Given the description of an element on the screen output the (x, y) to click on. 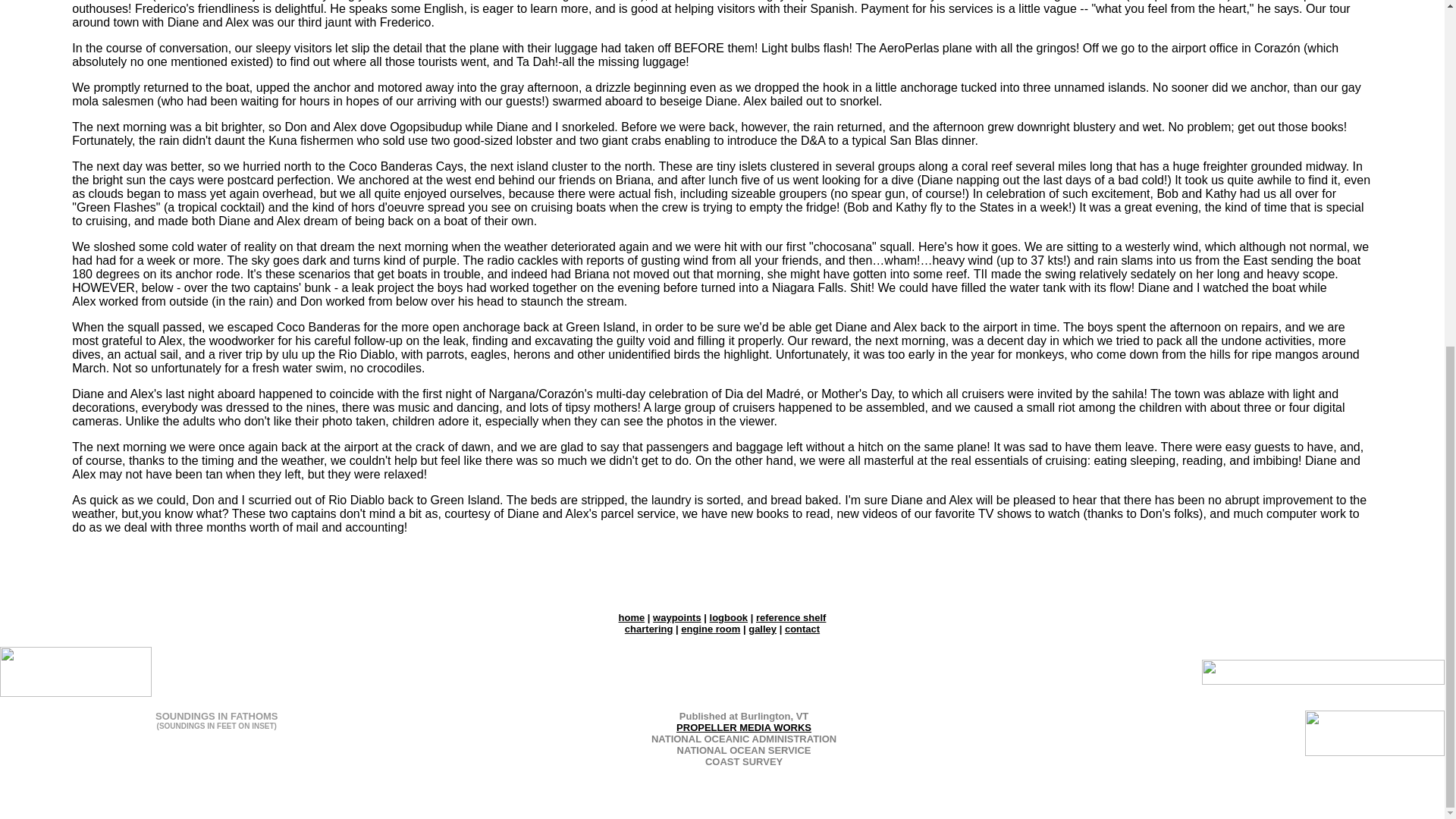
galley (762, 628)
reference shelf (791, 617)
engine room (710, 628)
contact (801, 628)
PROPELLER MEDIA WORKS (743, 727)
home (631, 617)
chartering (648, 628)
waypoints (676, 617)
logbook (729, 617)
